Given the description of an element on the screen output the (x, y) to click on. 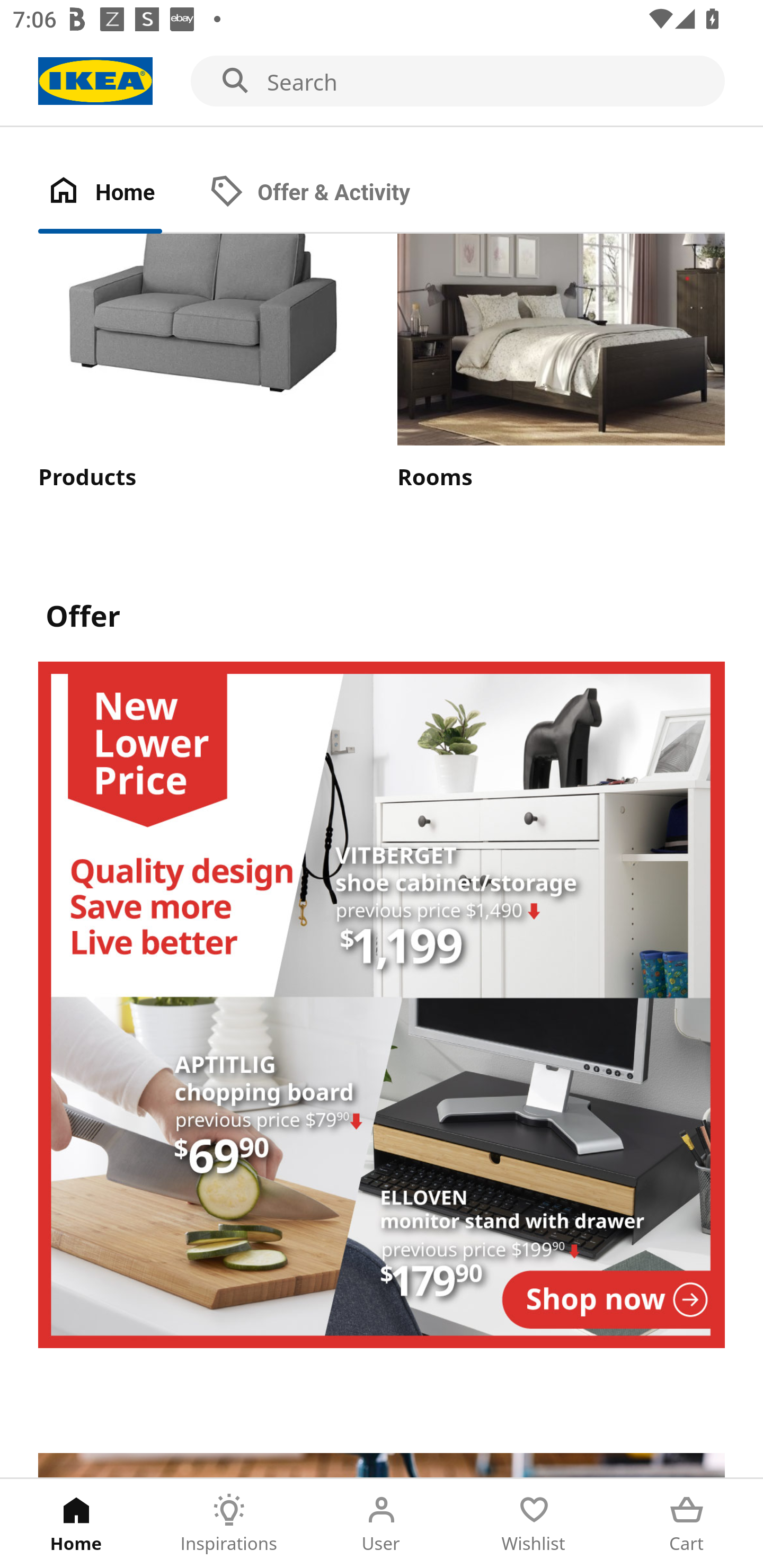
Search (381, 81)
Home
Tab 1 of 2 (118, 192)
Offer & Activity
Tab 2 of 2 (327, 192)
Products (201, 363)
Rooms (560, 363)
Home
Tab 1 of 5 (76, 1522)
Inspirations
Tab 2 of 5 (228, 1522)
User
Tab 3 of 5 (381, 1522)
Wishlist
Tab 4 of 5 (533, 1522)
Cart
Tab 5 of 5 (686, 1522)
